Given the description of an element on the screen output the (x, y) to click on. 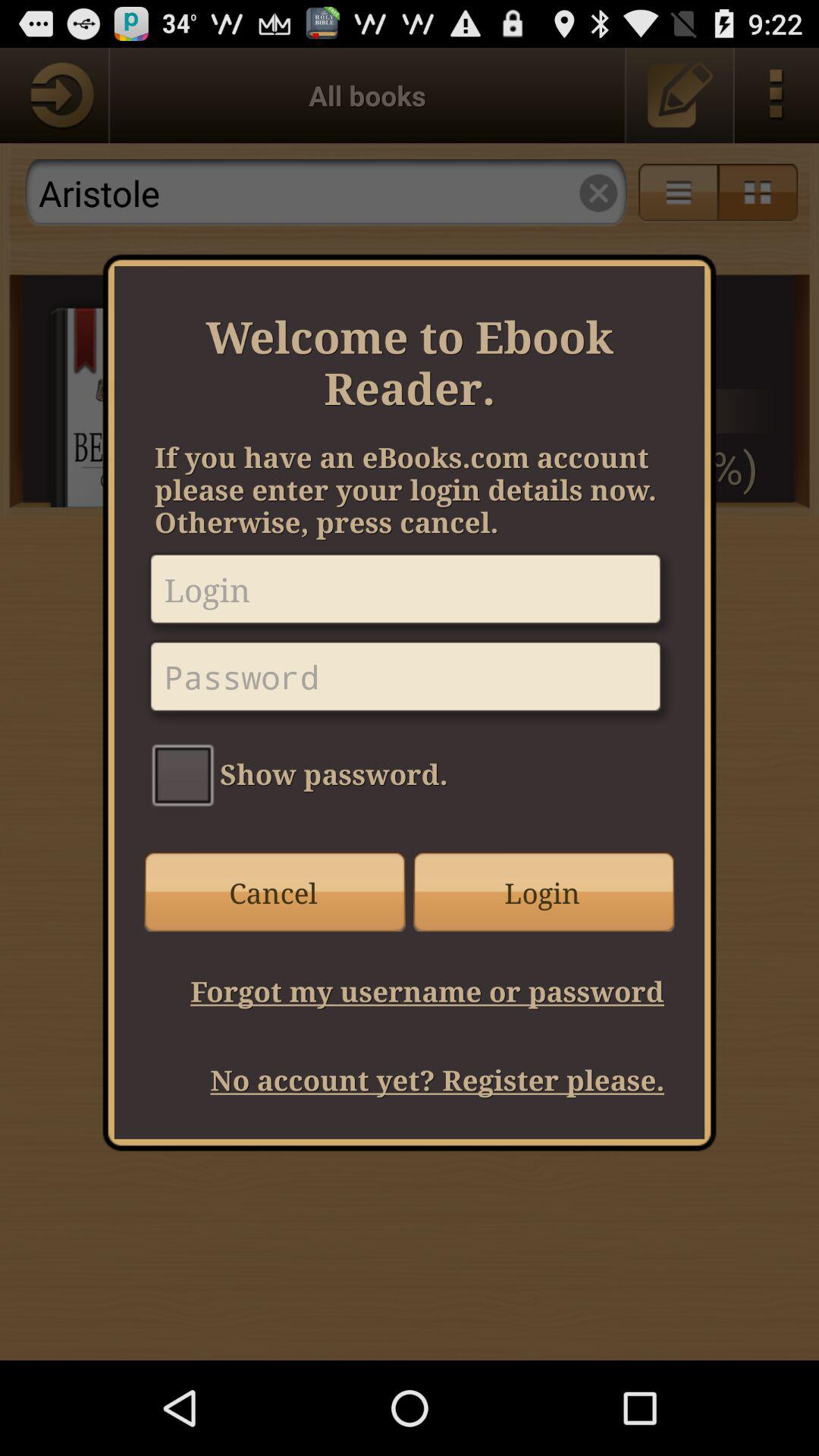
enter password here (409, 682)
